Given the description of an element on the screen output the (x, y) to click on. 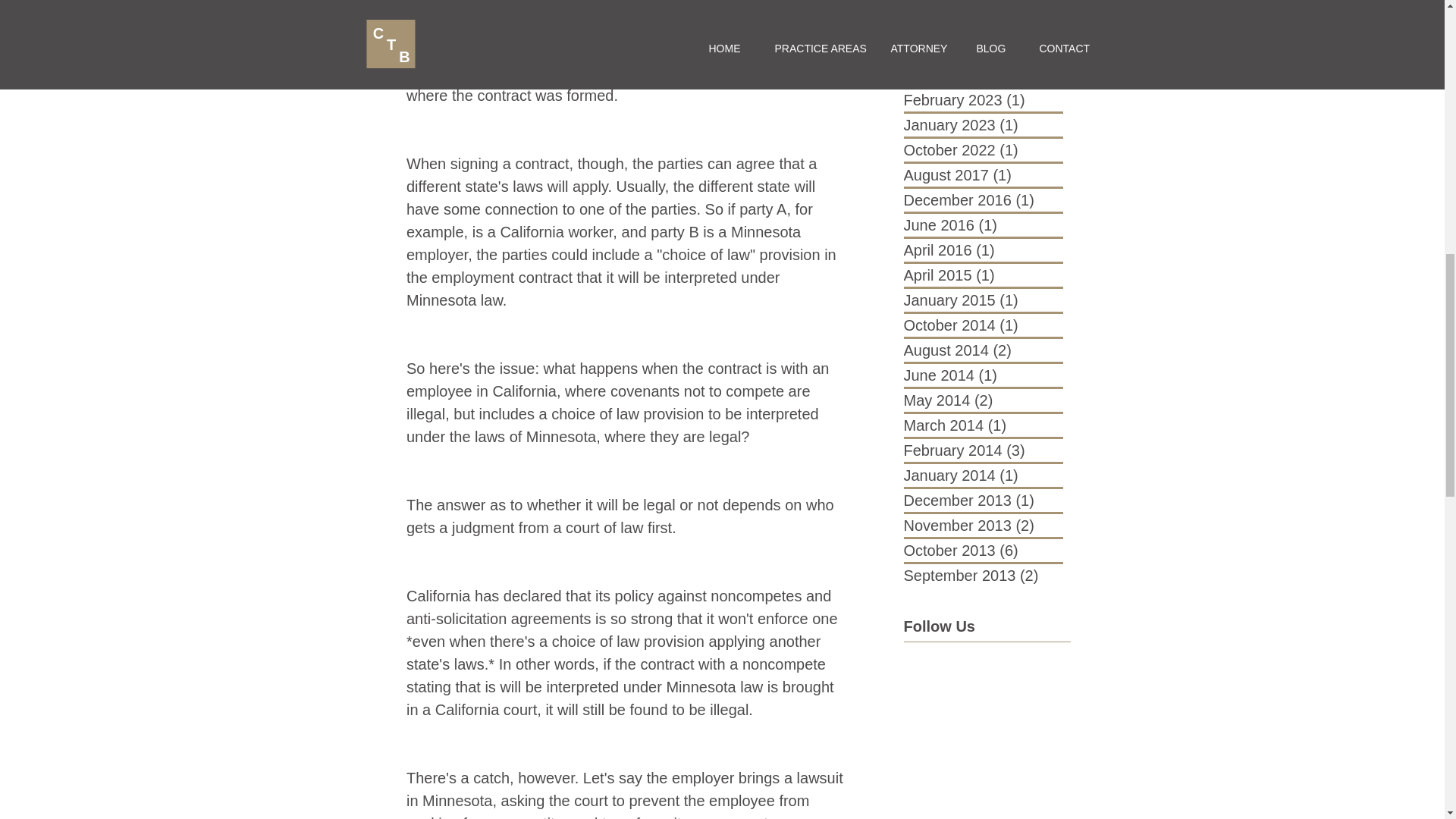
What is My Case Worth? (1020, 4)
